Given the description of an element on the screen output the (x, y) to click on. 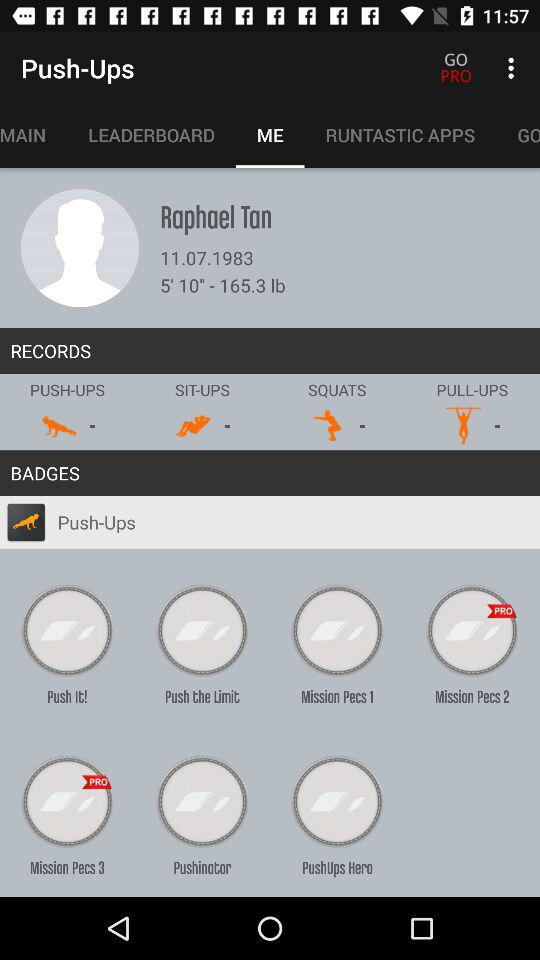
profile picture (80, 248)
